Given the description of an element on the screen output the (x, y) to click on. 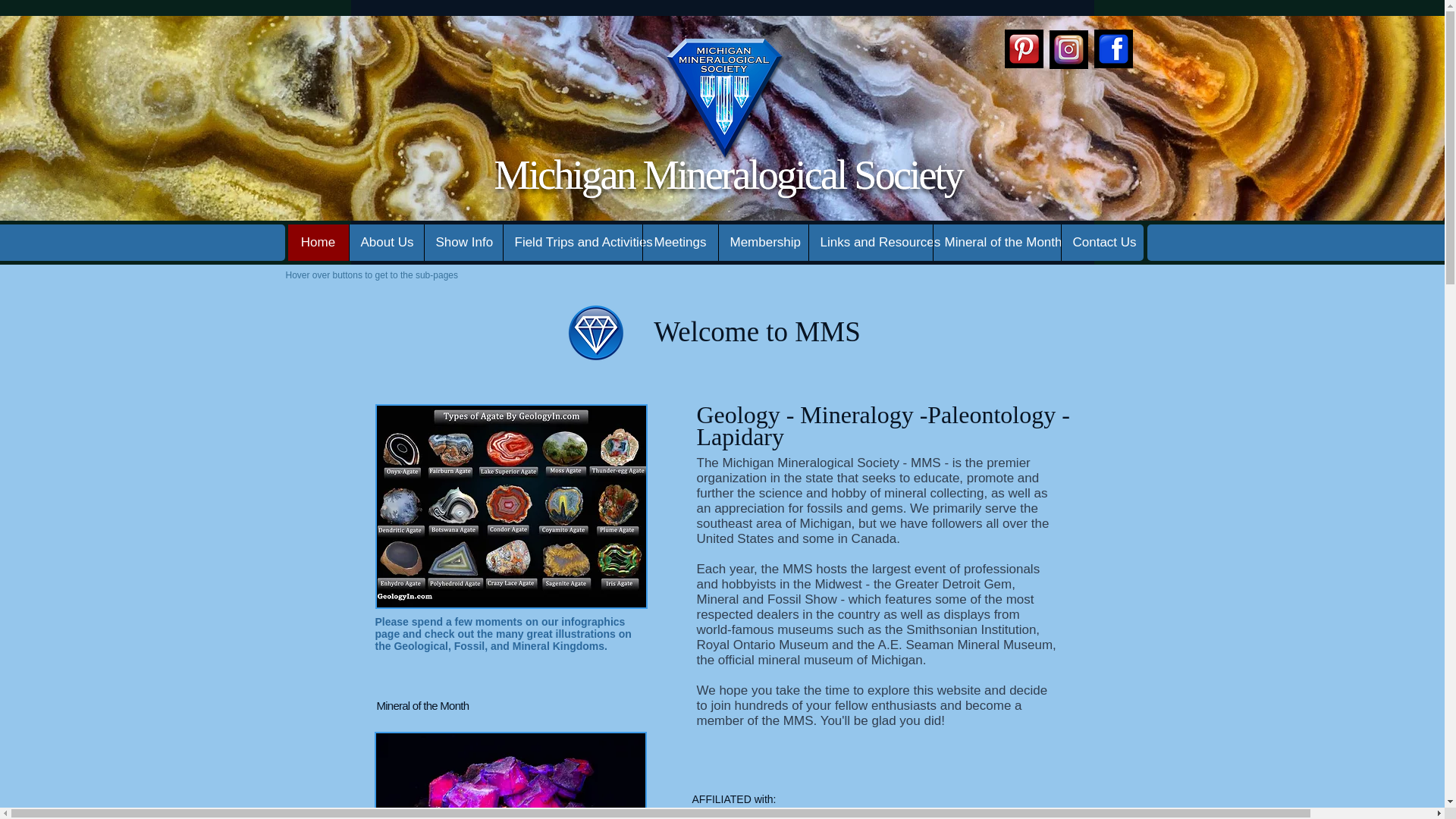
About Us (386, 242)
Show Info (462, 242)
Membership (762, 242)
Featured Mineral (510, 775)
Mineral of the Month (997, 242)
Links and Resources (870, 242)
Field Trips and Activities (572, 242)
Home (318, 242)
Contact Us (1100, 242)
Meetings (679, 242)
